Given the description of an element on the screen output the (x, y) to click on. 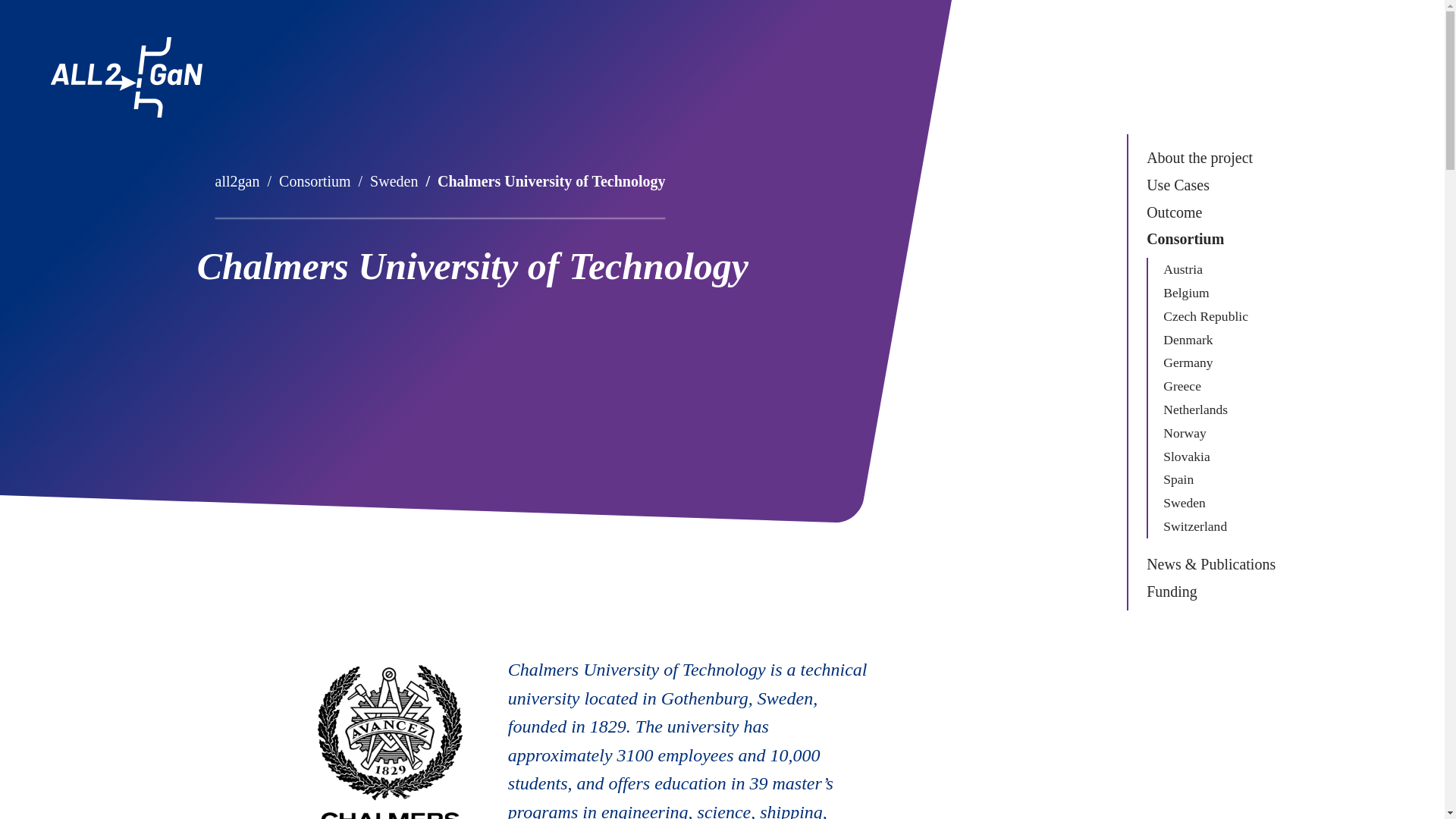
Norway (1225, 433)
Spain (1225, 479)
Czech Republic (1225, 316)
Netherlands (1225, 409)
Consortium (1225, 243)
Spain (1225, 479)
Austria (1225, 269)
Denmark (1225, 340)
Consortium (1225, 243)
Switzerland (1225, 526)
Greece (1225, 386)
Czech Republic (1225, 316)
Belgium (1225, 292)
Outcome (1225, 216)
Sweden (1225, 503)
